Given the description of an element on the screen output the (x, y) to click on. 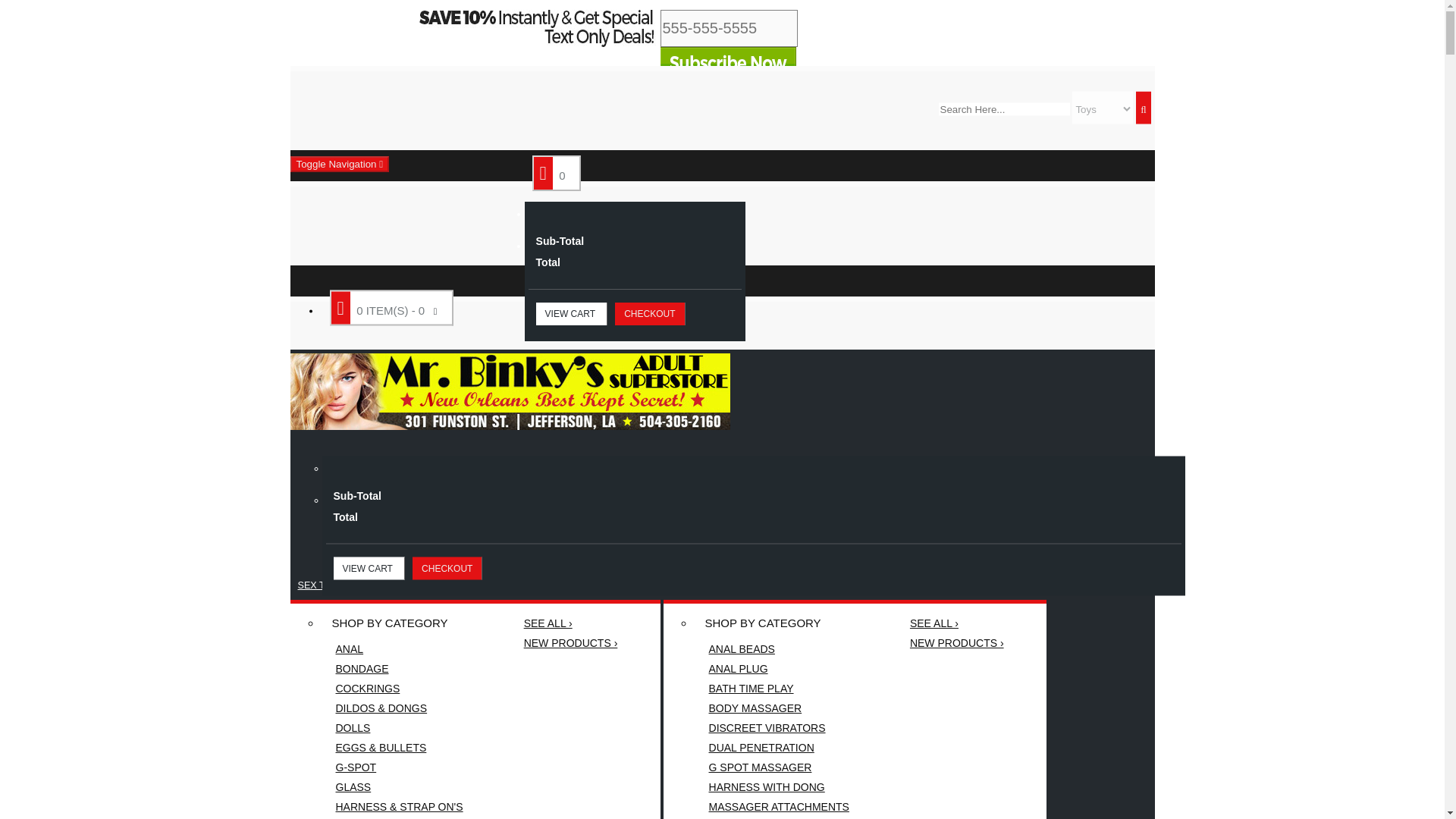
CNY (1143, 191)
AUD (1143, 124)
USD (1143, 141)
CHECKOUT (649, 313)
SEX TOYS (320, 584)
Toggle Navigation (338, 163)
MASSAGERS (398, 817)
BONDAGE (398, 668)
Login (552, 130)
VIEW CART (369, 567)
CAD (1143, 208)
Register (495, 130)
GLASS (398, 786)
ANAL (398, 649)
0 (556, 172)
